Given the description of an element on the screen output the (x, y) to click on. 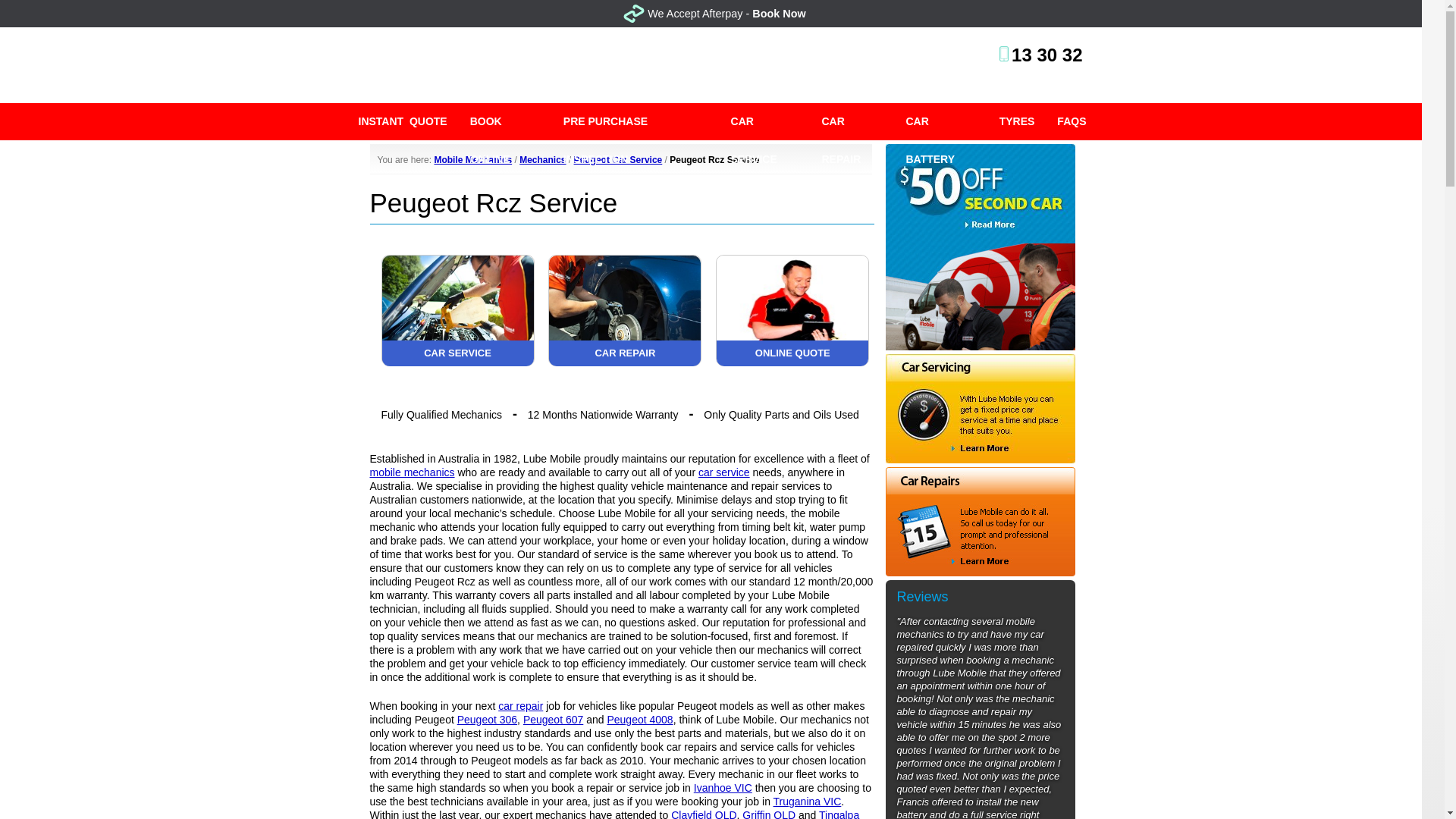
Peugeot Car Service (617, 159)
Clayfield QLD (703, 814)
Book Now (778, 13)
Griffin QLD (768, 814)
CAR SERVICE (457, 361)
BOOK ONLINE (504, 121)
CAR REPAIR (851, 121)
Peugeot 607 (552, 719)
TYRES (1017, 121)
Peugeot 4008 (639, 719)
